Given the description of an element on the screen output the (x, y) to click on. 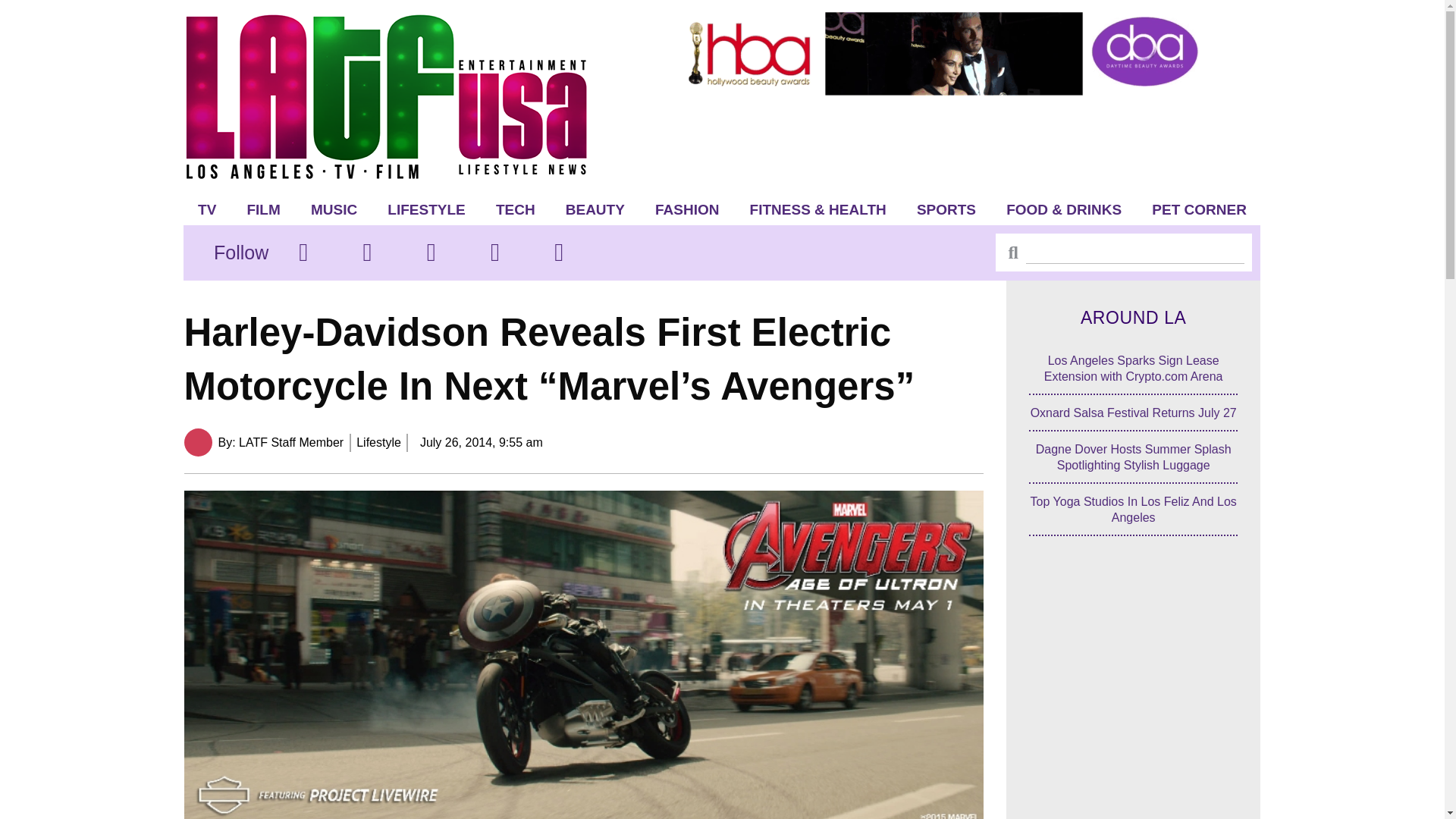
PET CORNER (1199, 209)
FASHION (687, 209)
SPORTS (946, 209)
FILM (263, 209)
MUSIC (333, 209)
TECH (515, 209)
TV (207, 209)
LIFESTYLE (426, 209)
BEAUTY (595, 209)
